Given the description of an element on the screen output the (x, y) to click on. 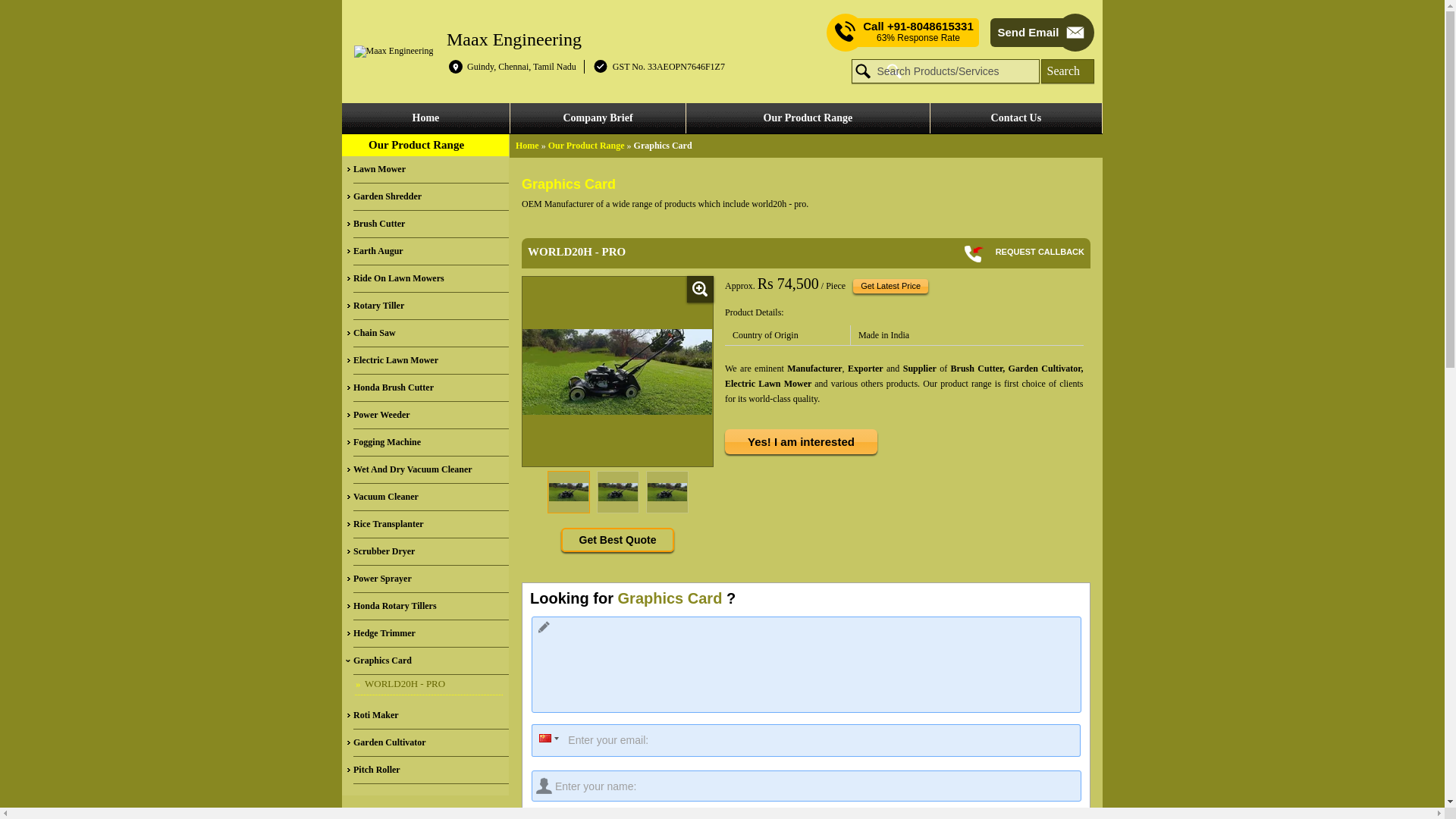
Send it Now ! (805, 816)
Rotary Tiller (430, 306)
Enter your name: (806, 785)
Earth Augur (430, 251)
Brush Cutter (430, 224)
Send SMS Free (917, 32)
Contact Us (1016, 118)
Home (425, 118)
Maax Engineering (513, 38)
Chain Saw (430, 333)
